Given the description of an element on the screen output the (x, y) to click on. 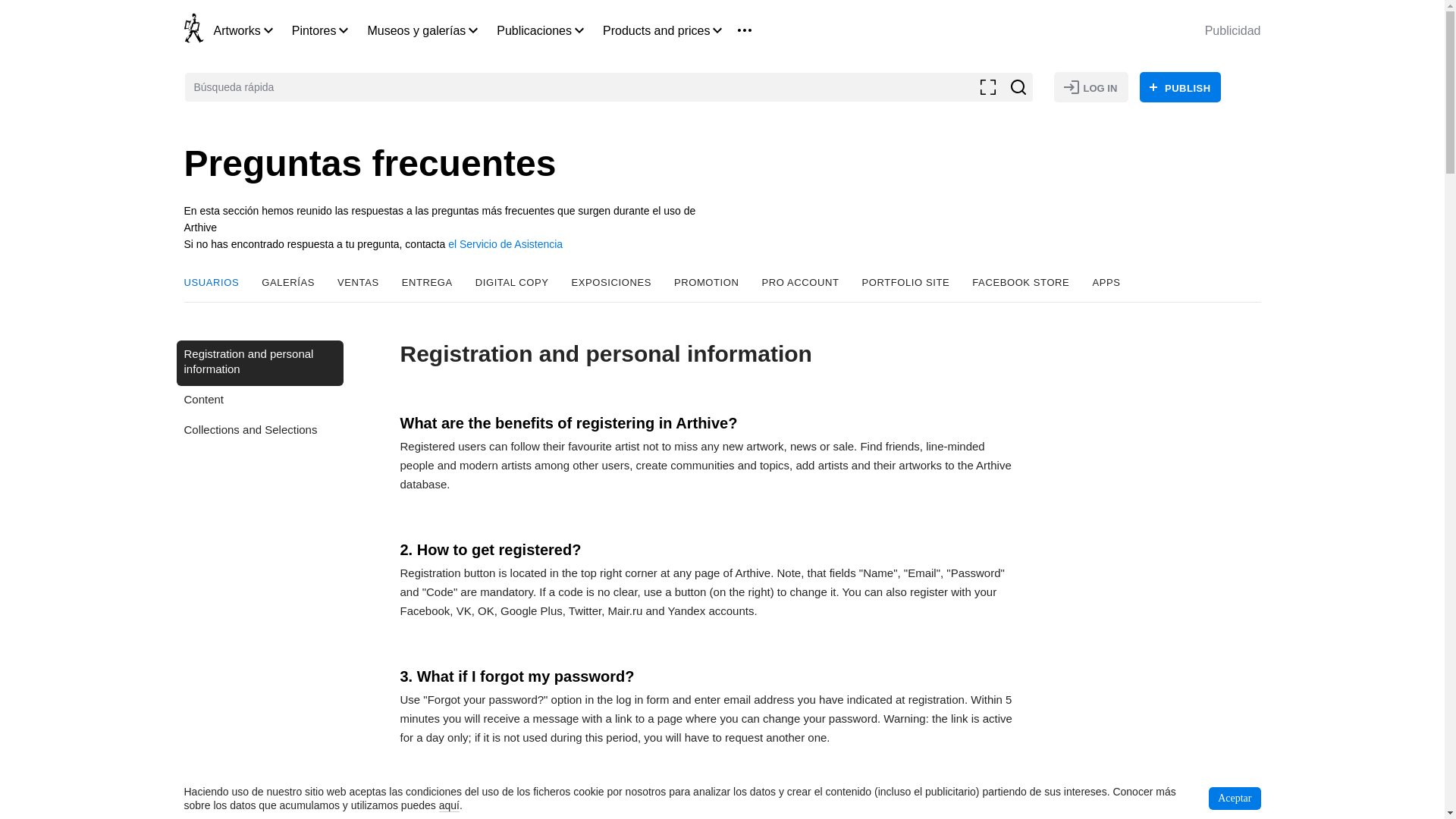
Artworks (237, 30)
Aceptar (1234, 798)
Pintores (314, 30)
Publicaciones (534, 30)
